Given the description of an element on the screen output the (x, y) to click on. 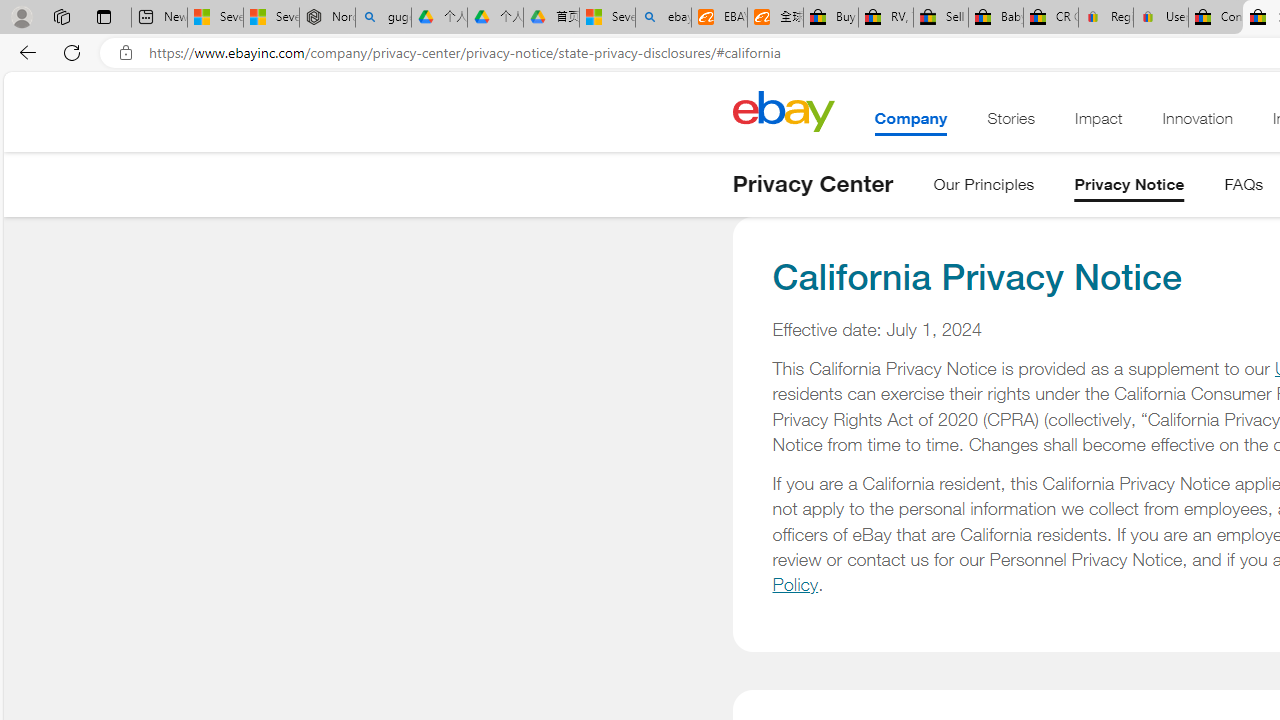
Sell worldwide with eBay (940, 17)
RV, Trailer & Camper Steps & Ladders for sale | eBay (885, 17)
Our Principles (984, 188)
Register: Create a personal eBay account (1105, 17)
FAQs (1243, 188)
Buy Auto Parts & Accessories | eBay (830, 17)
Privacy Notice (1129, 188)
